Given the description of an element on the screen output the (x, y) to click on. 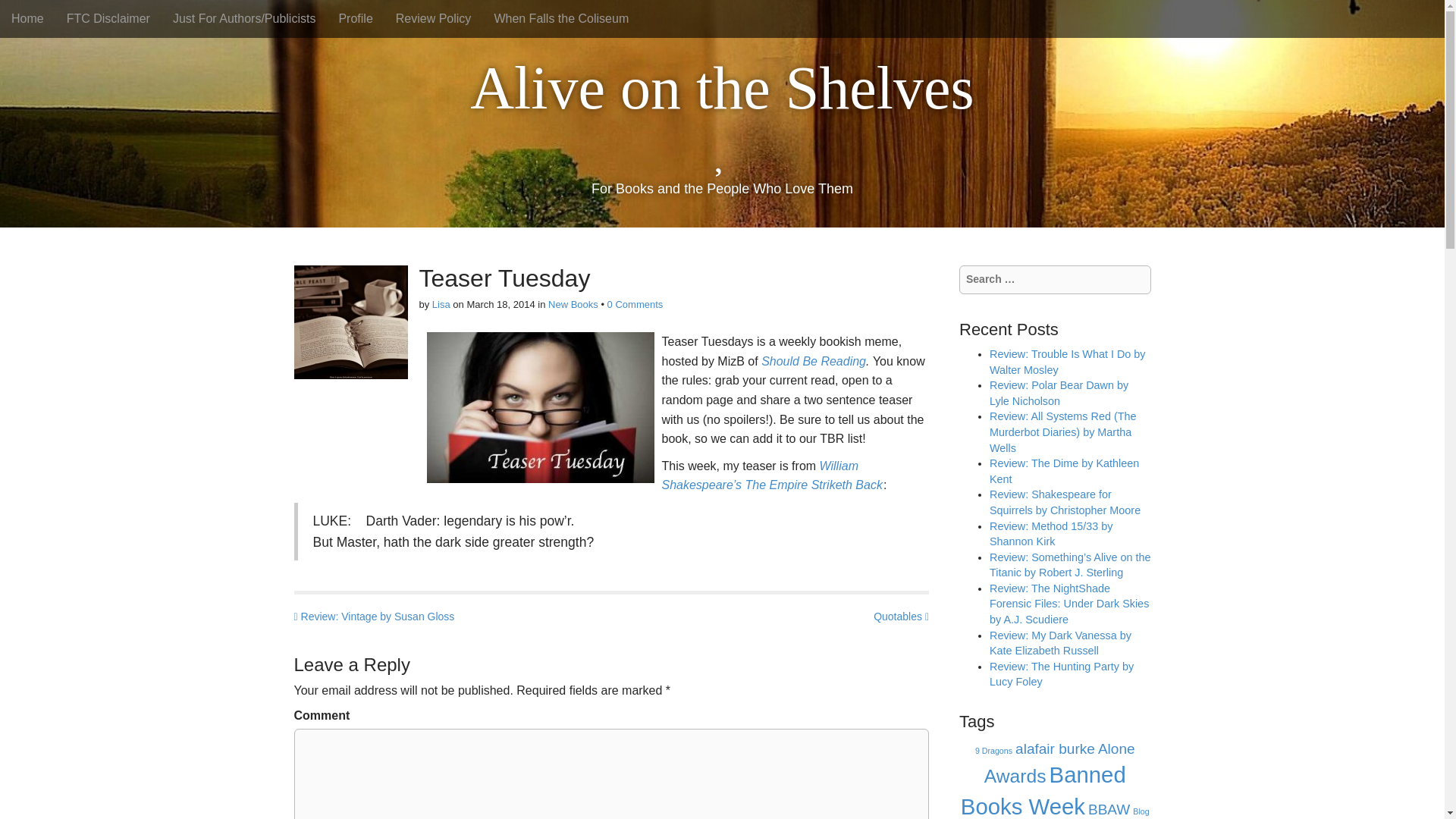
alafair burke (1054, 748)
Review: The Hunting Party by Lucy Foley (1062, 674)
teaser tuesday (539, 407)
Quotables (900, 616)
Lisa (440, 304)
March 18, 2014 (499, 304)
Review: My Dark Vanessa by Kate Elizabeth Russell (1060, 643)
BBAW (1108, 809)
Review: Polar Bear Dawn by Lyle Nicholson (1059, 393)
9 Dragons (993, 750)
New Books (573, 304)
0 Comments (635, 304)
Review Policy (433, 18)
Review: Trouble Is What I Do by Walter Mosley (1067, 361)
